Given the description of an element on the screen output the (x, y) to click on. 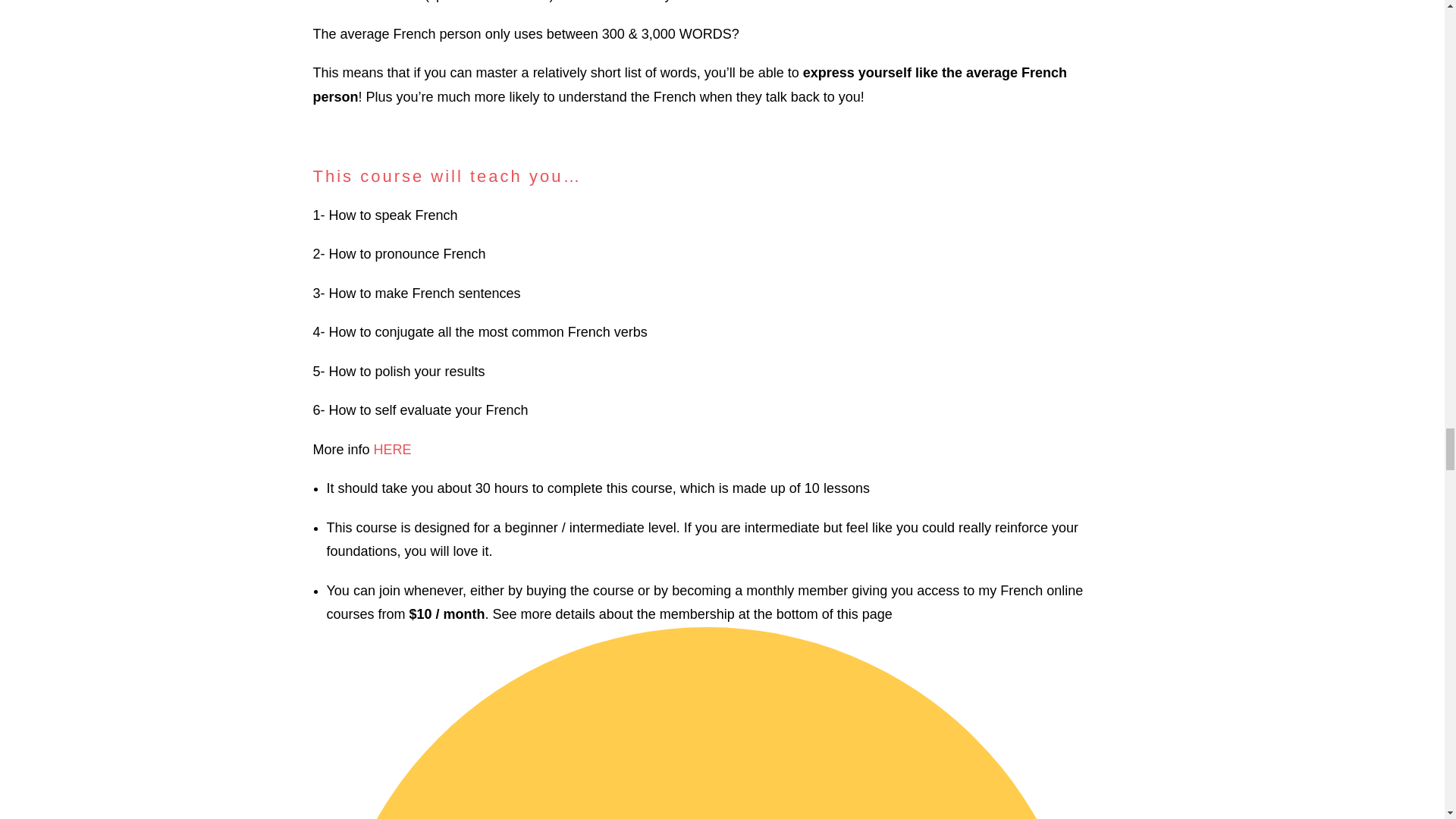
HERE (393, 449)
